Given the description of an element on the screen output the (x, y) to click on. 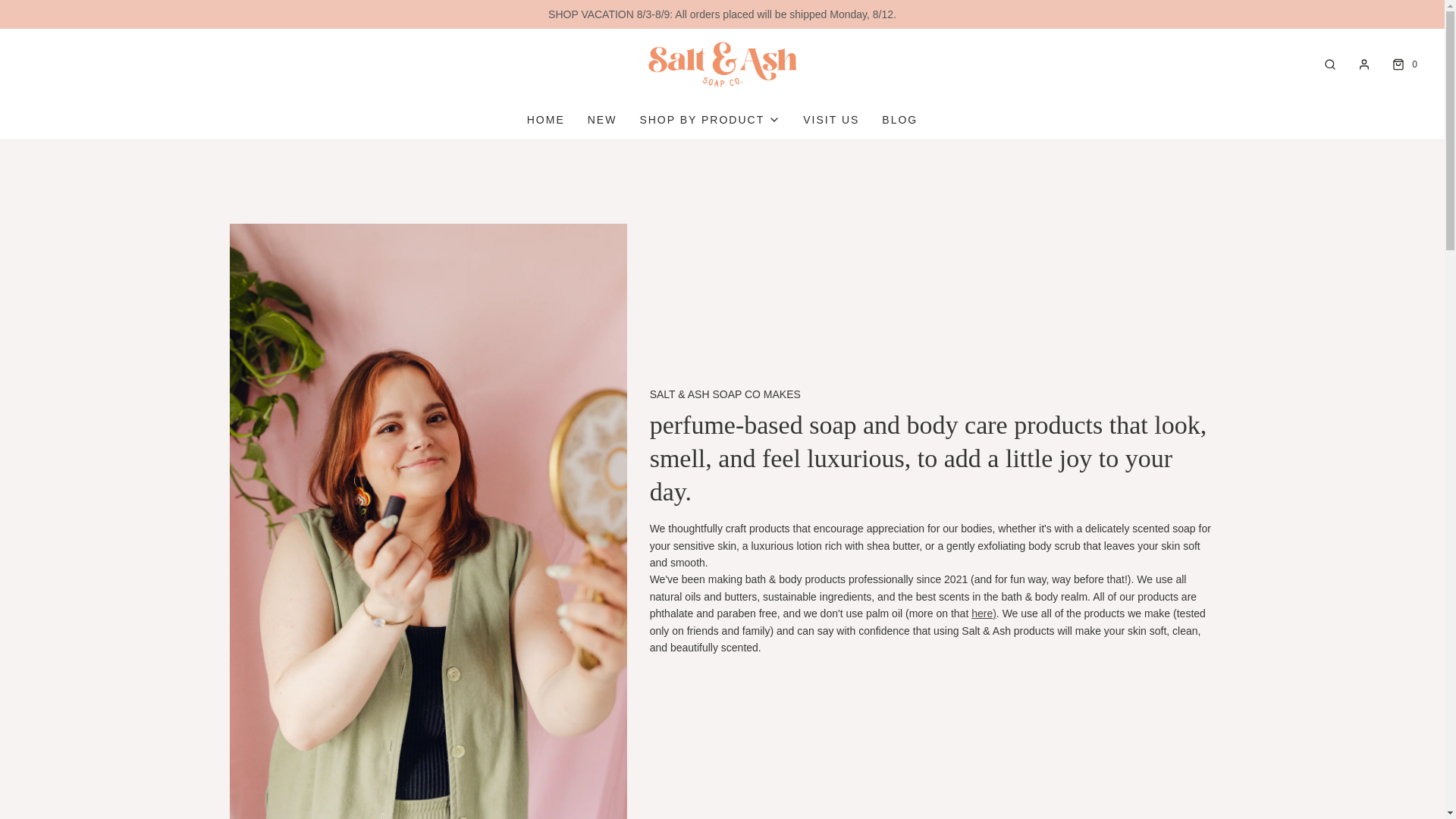
Log in (1364, 64)
Cart (1403, 64)
Search (1329, 64)
